Given the description of an element on the screen output the (x, y) to click on. 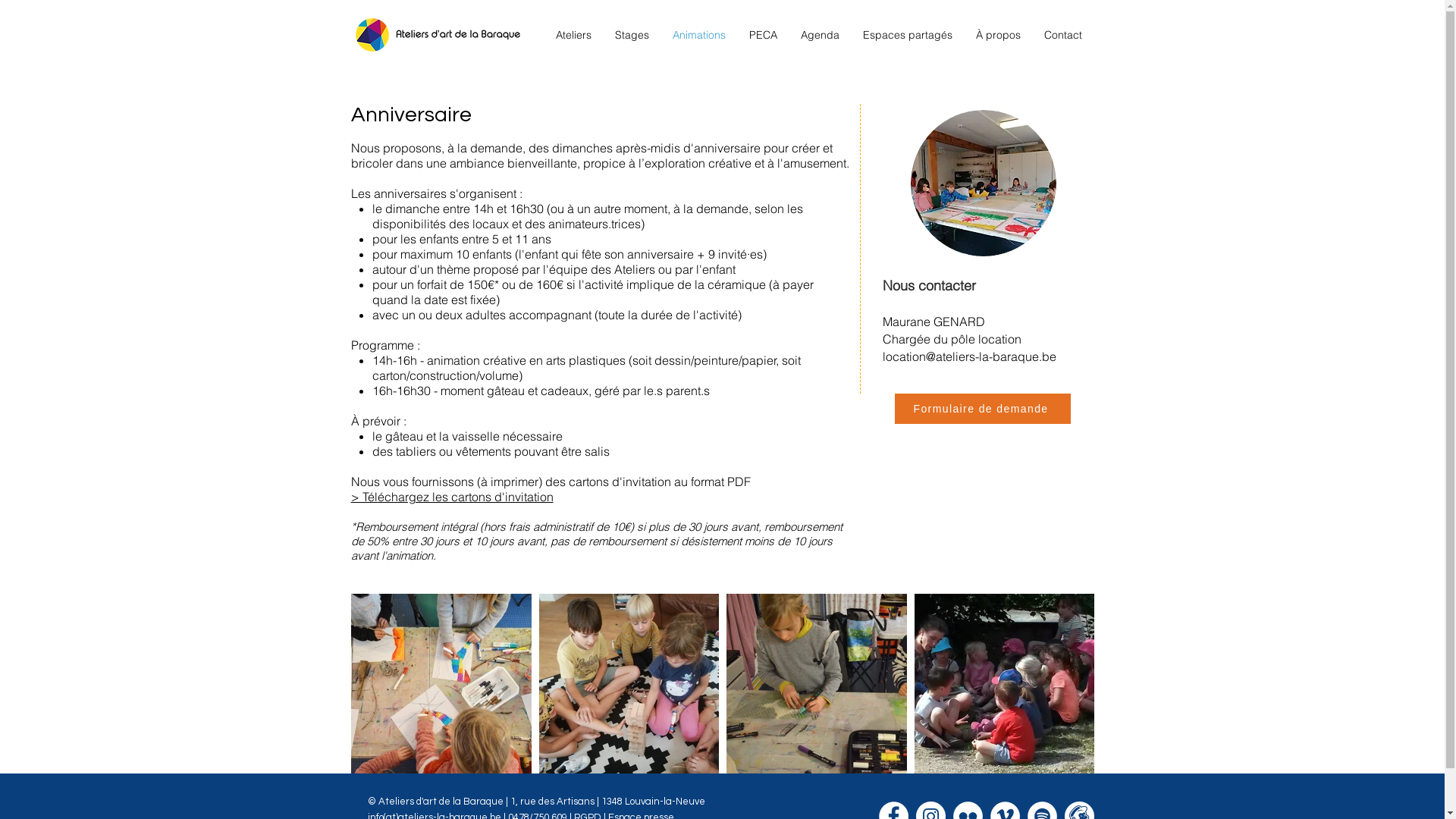
Formulaire de demande Element type: text (982, 408)
Animations Element type: text (699, 34)
Contact Element type: text (1063, 34)
Agenda Element type: text (819, 34)
PECA Element type: text (762, 34)
Stages Element type: text (632, 34)
Ateliers Element type: text (573, 34)
location@ateliers-la-baraque.be Element type: text (969, 356)
